Given the description of an element on the screen output the (x, y) to click on. 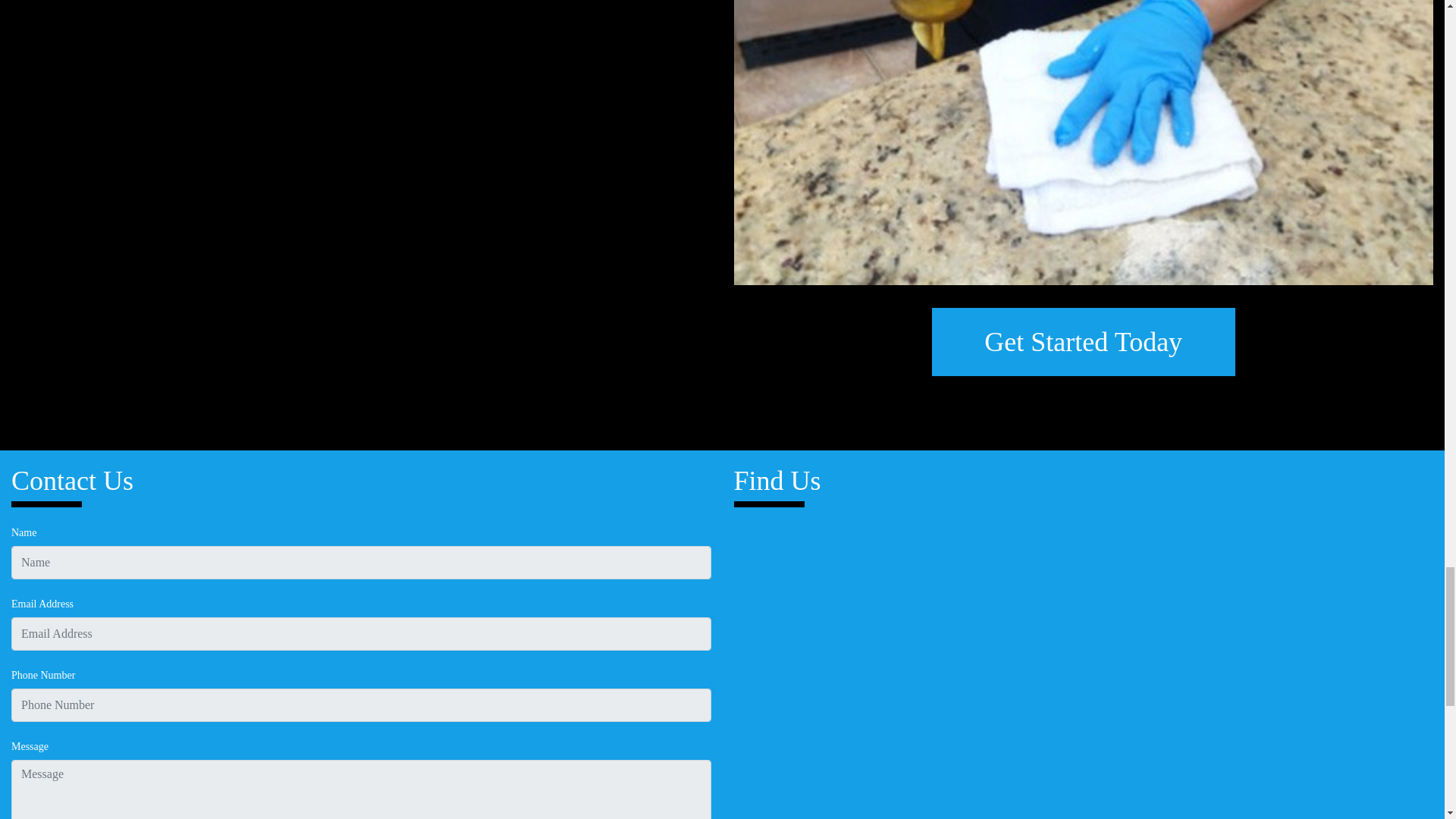
Get Started Today (1082, 341)
